Given the description of an element on the screen output the (x, y) to click on. 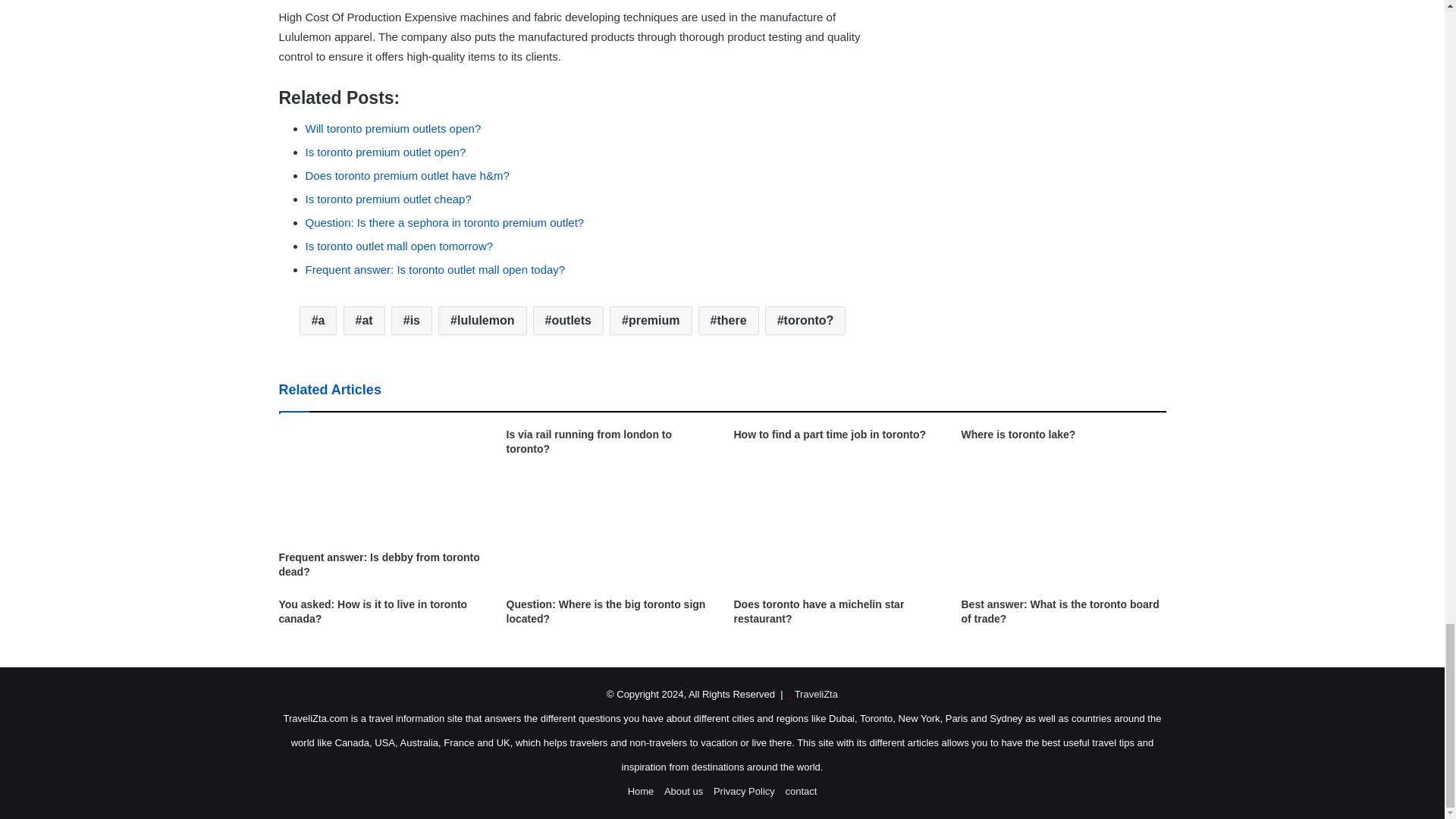
Is toronto outlet mall open tomorrow? (398, 245)
How to find a part time job in toronto? (829, 434)
premium (650, 320)
toronto? (805, 320)
outlets (568, 320)
lululemon (481, 320)
You asked: How is it to live in toronto canada? (373, 611)
Does toronto have a michelin star restaurant? (818, 611)
at (364, 320)
Where is toronto lake? (1017, 434)
